Given the description of an element on the screen output the (x, y) to click on. 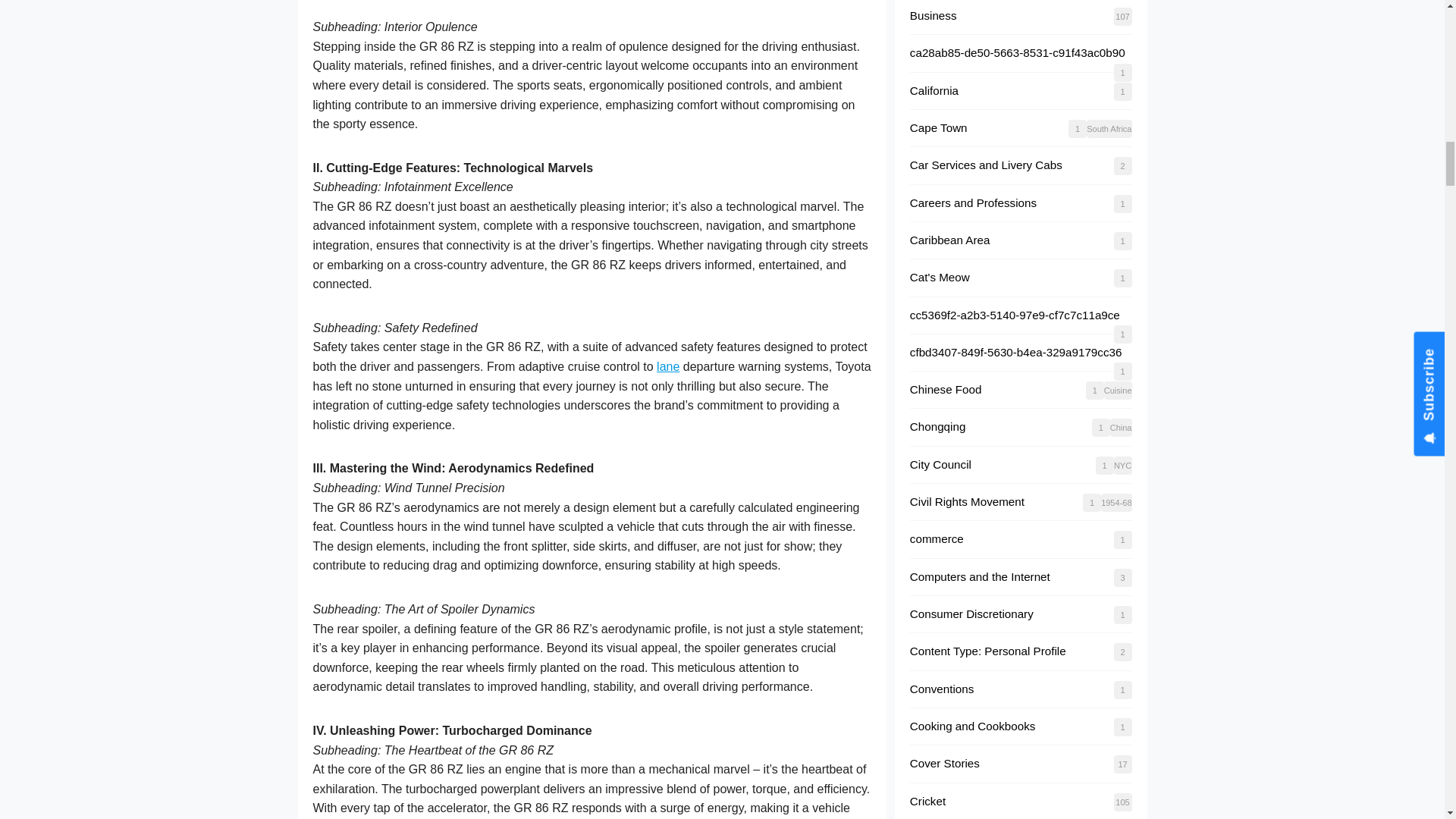
lane (667, 366)
